Given the description of an element on the screen output the (x, y) to click on. 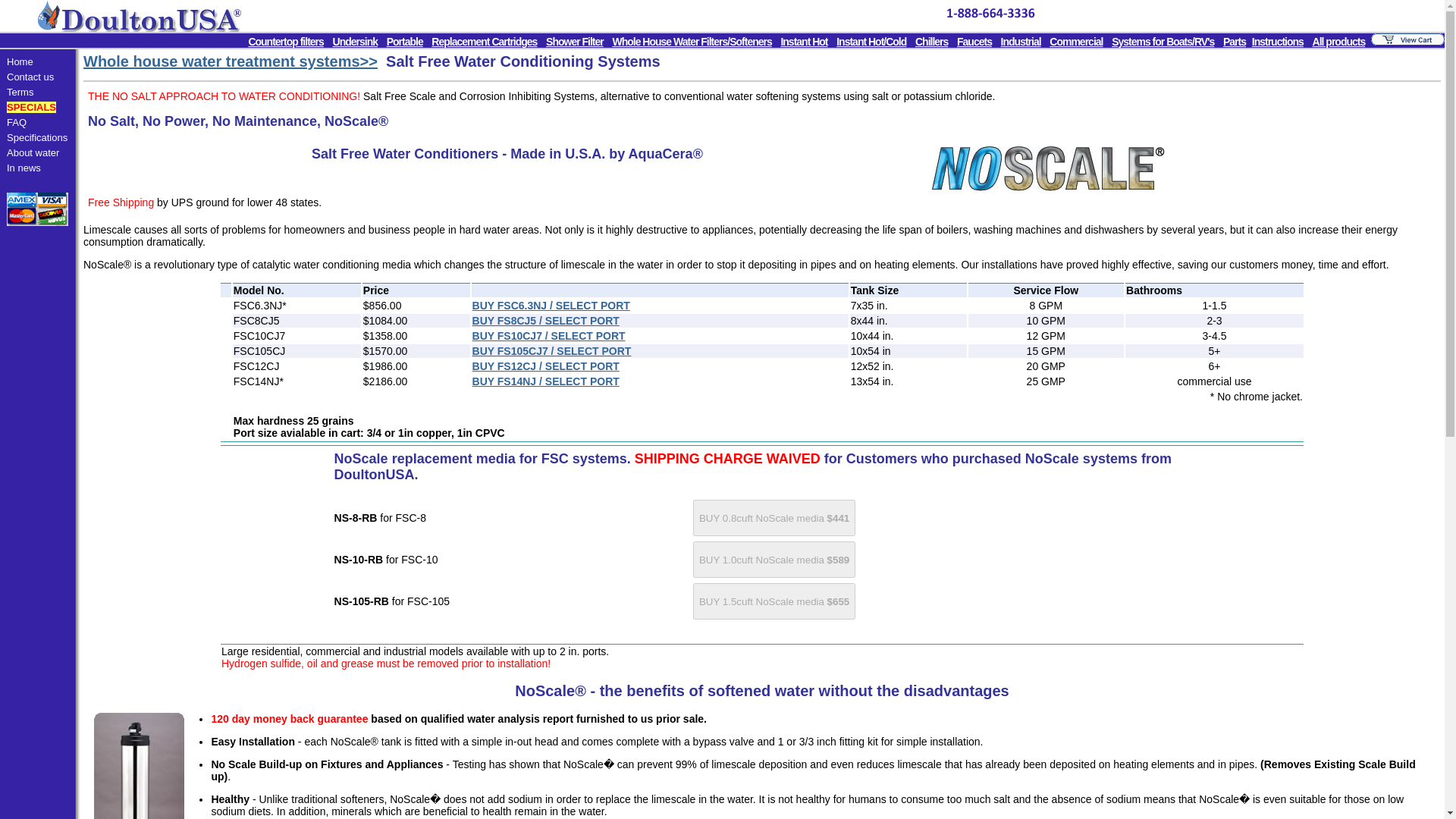
All products (1339, 41)
Chillers (931, 41)
SPECIALS (31, 107)
In news (23, 167)
Replacement Cartridges (483, 41)
About water (33, 152)
Undersink (355, 41)
Countertop filters (285, 41)
Faucets (973, 41)
Terms (20, 91)
Specifications (36, 137)
Home (20, 61)
FAQ (16, 122)
Parts (1234, 41)
Commercial (1075, 41)
